Given the description of an element on the screen output the (x, y) to click on. 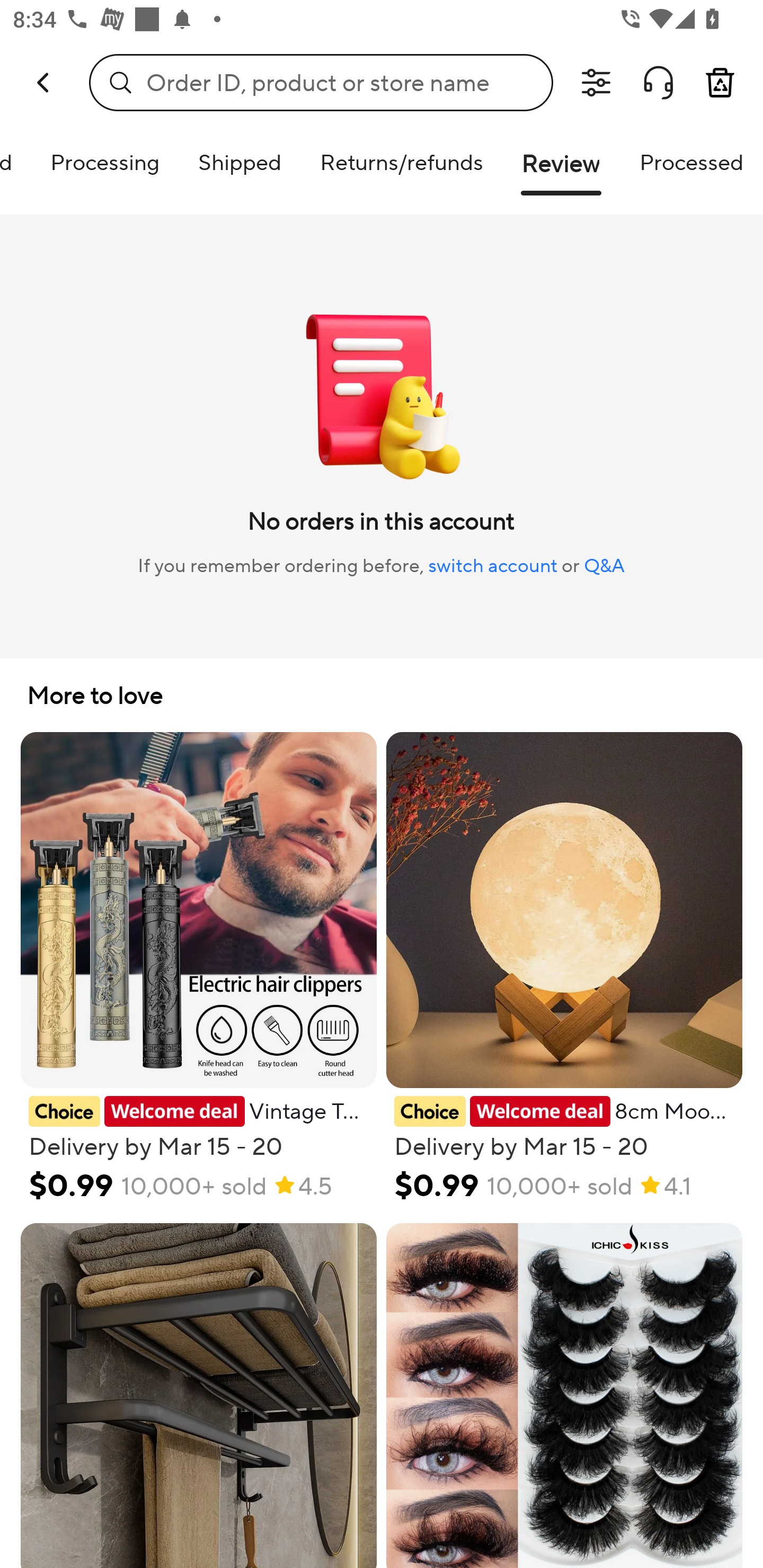
Navigate up (44, 82)
 Order ID, product or store name (321, 82)
 (595, 82)
 (658, 82)
Processing (105, 162)
Shipped (239, 162)
Returns/refunds (401, 162)
Review (561, 170)
Processed (691, 162)
